Given the description of an element on the screen output the (x, y) to click on. 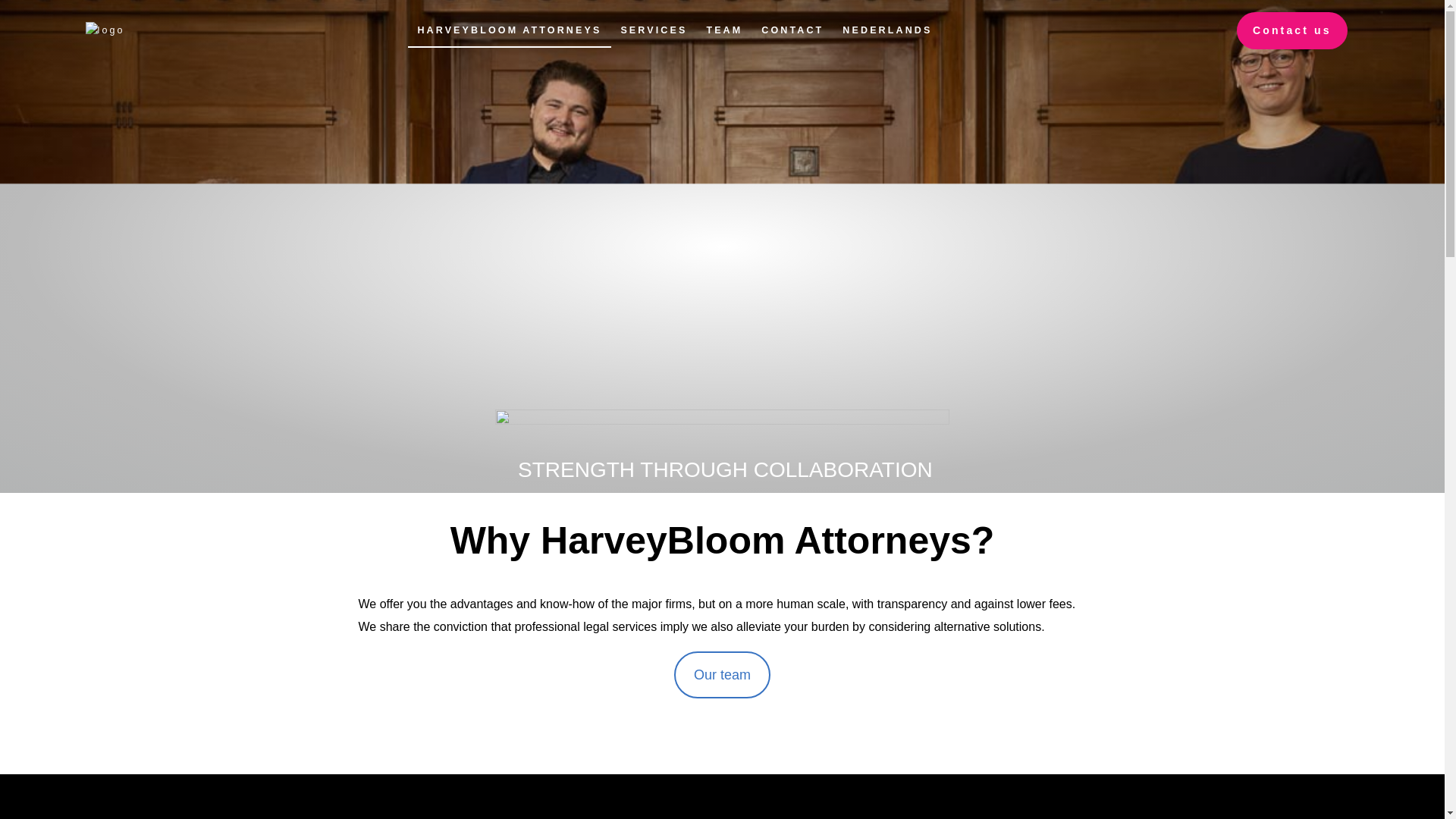
NEDERLANDS (887, 30)
CONTACT (792, 30)
Contact us (1291, 30)
home (103, 30)
TEAM (724, 30)
HARVEYBLOOM ATTORNEYS (509, 30)
Our team (722, 674)
SERVICES (654, 30)
logo (103, 29)
